Given the description of an element on the screen output the (x, y) to click on. 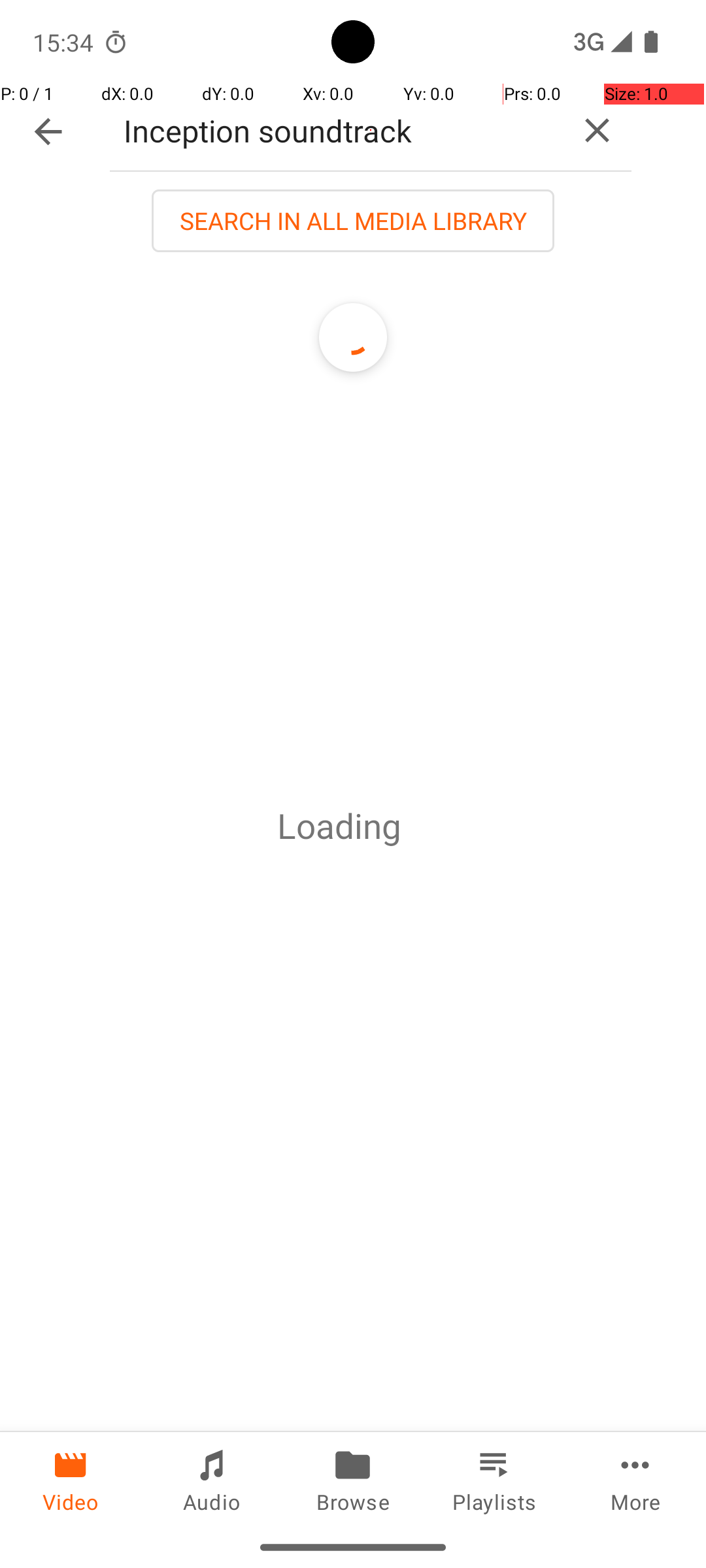
Inception soundtrack Element type: android.widget.AutoCompleteTextView (335, 130)
